Given the description of an element on the screen output the (x, y) to click on. 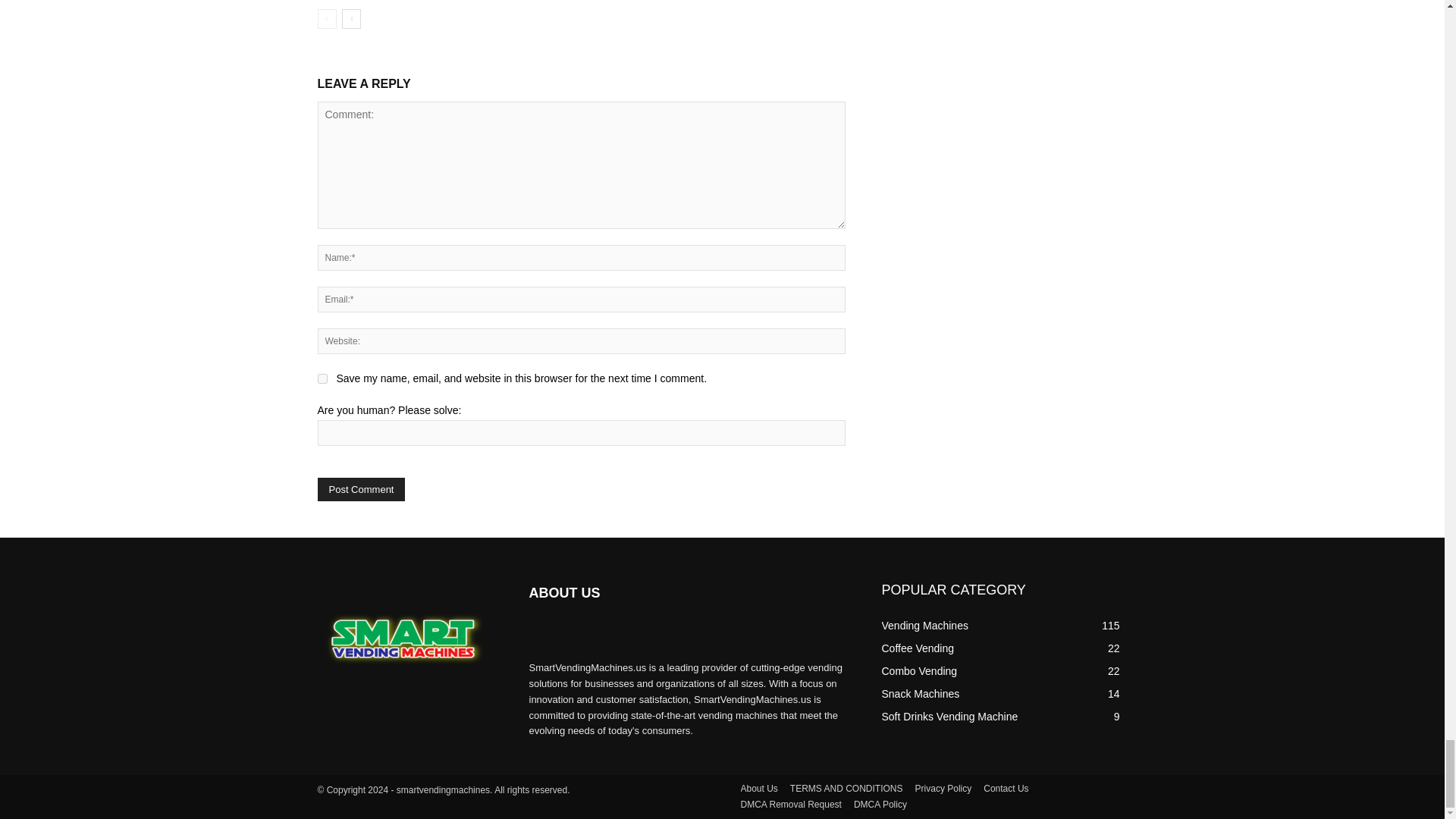
Post Comment (360, 489)
yes (321, 378)
